Given the description of an element on the screen output the (x, y) to click on. 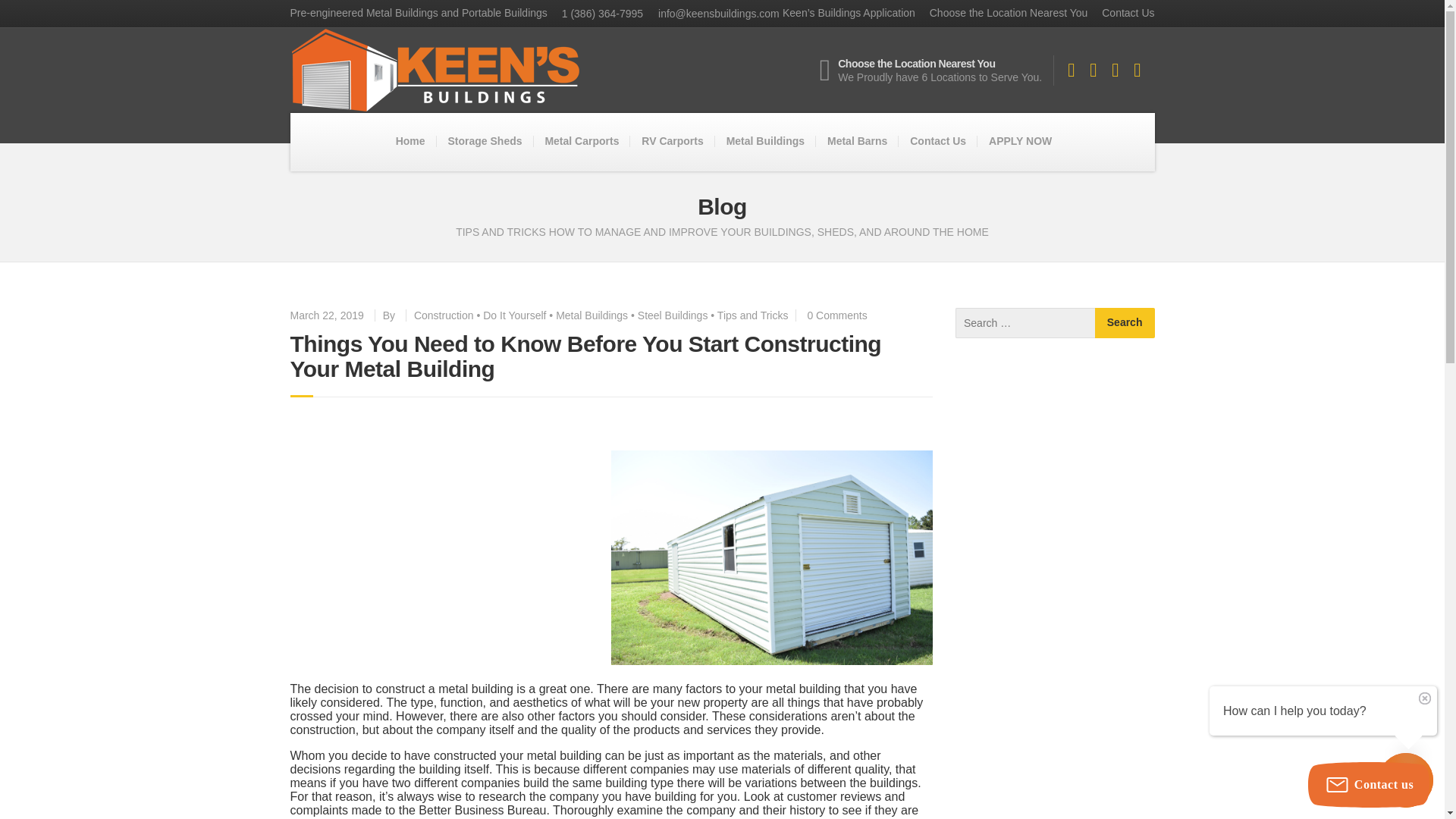
Metal Carports (581, 142)
Metal Buildings (591, 315)
Choose the Location Nearest You (1002, 13)
Construction (443, 315)
APPLY NOW (1019, 142)
Storage Sheds (483, 142)
Search (1124, 322)
Metal Buildings (764, 142)
Search (1124, 322)
Search (1124, 322)
Steel Buildings (672, 315)
Contact Us (1122, 13)
RV Carports (672, 141)
Do It Yourself (514, 315)
Home (410, 141)
